Given the description of an element on the screen output the (x, y) to click on. 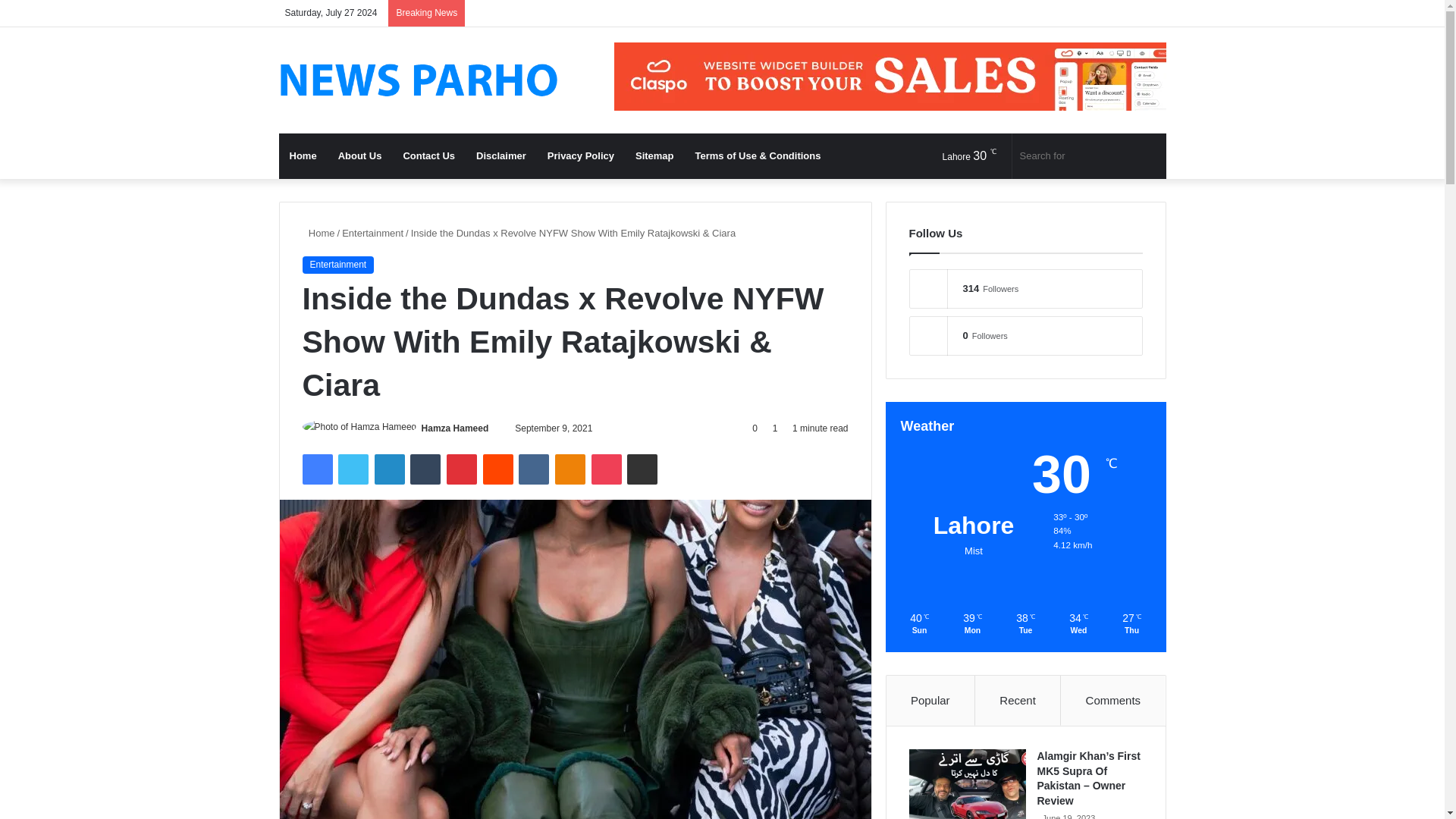
Tumblr (425, 469)
Home (317, 233)
Odnoklassniki (569, 469)
Entertainment (372, 233)
Share via Email (642, 469)
Odnoklassniki (569, 469)
Pocket (606, 469)
Privacy Policy (580, 156)
Sitemap (654, 156)
Twitter (352, 469)
Pinterest (461, 469)
Tumblr (425, 469)
Facebook (316, 469)
Contact Us (428, 156)
News Parho (419, 80)
